Given the description of an element on the screen output the (x, y) to click on. 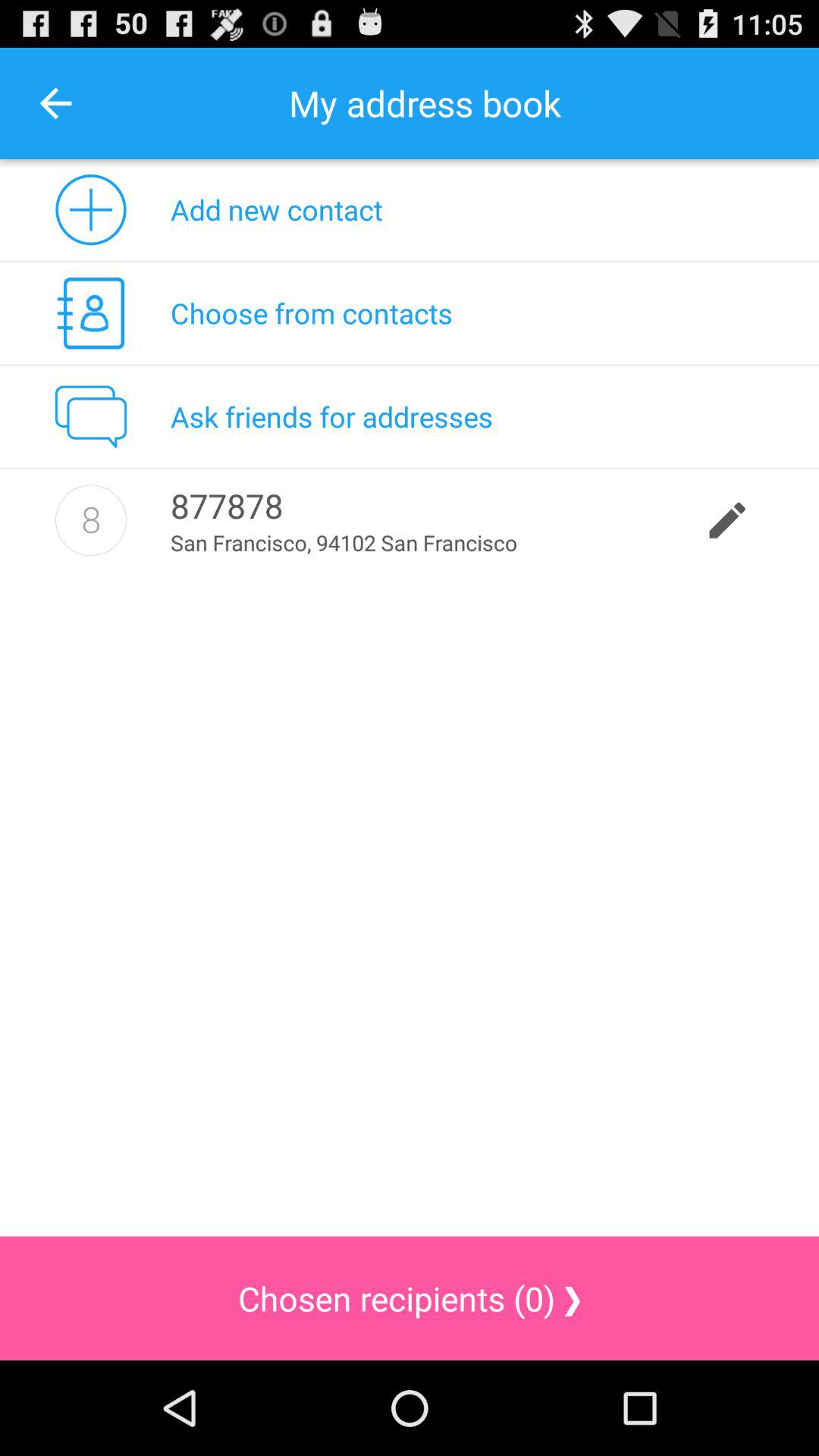
tap icon next to 877878 (90, 520)
